Given the description of an element on the screen output the (x, y) to click on. 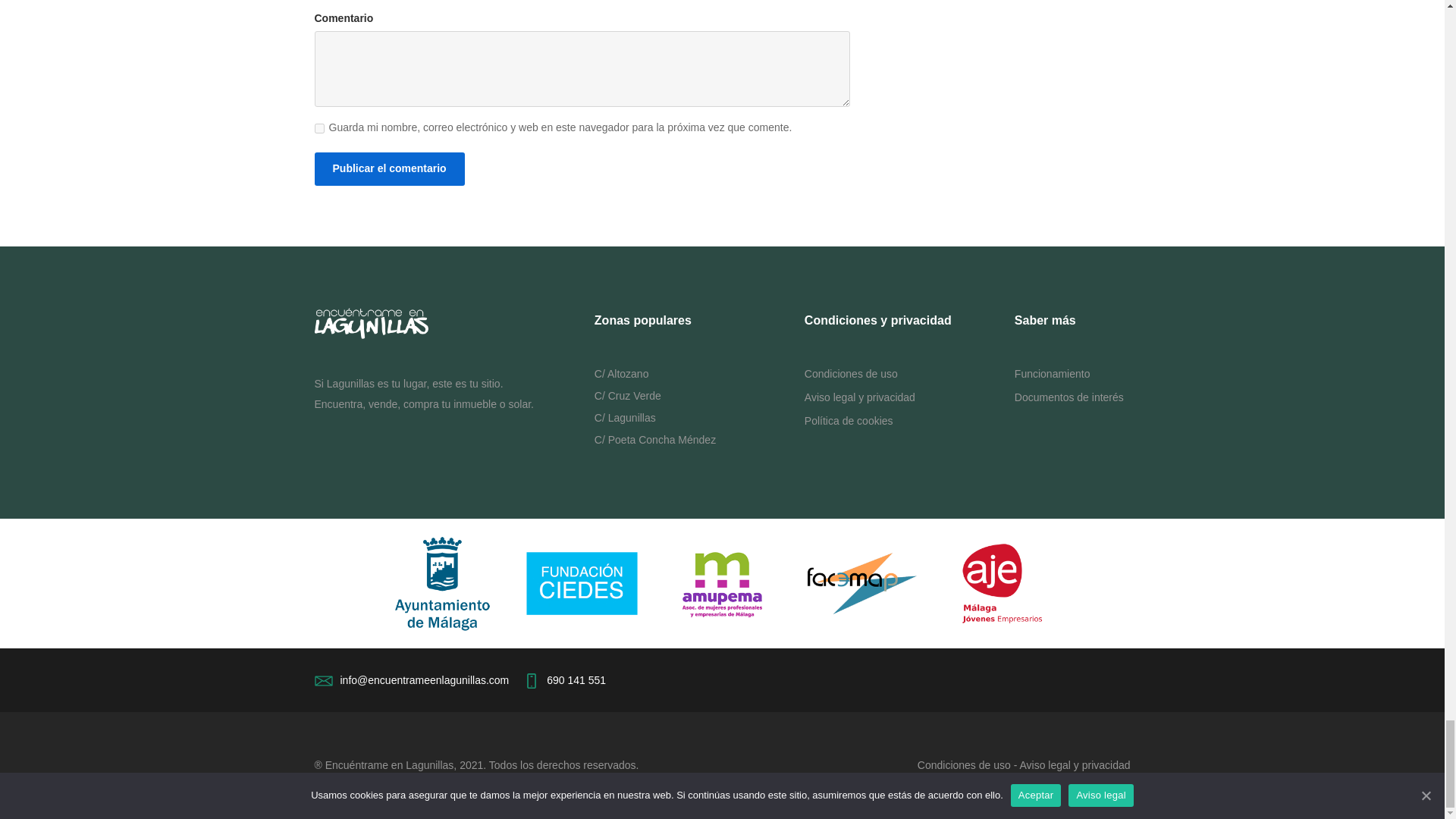
Publicar el comentario (389, 168)
Publicar el comentario (389, 168)
yes (318, 128)
